Given the description of an element on the screen output the (x, y) to click on. 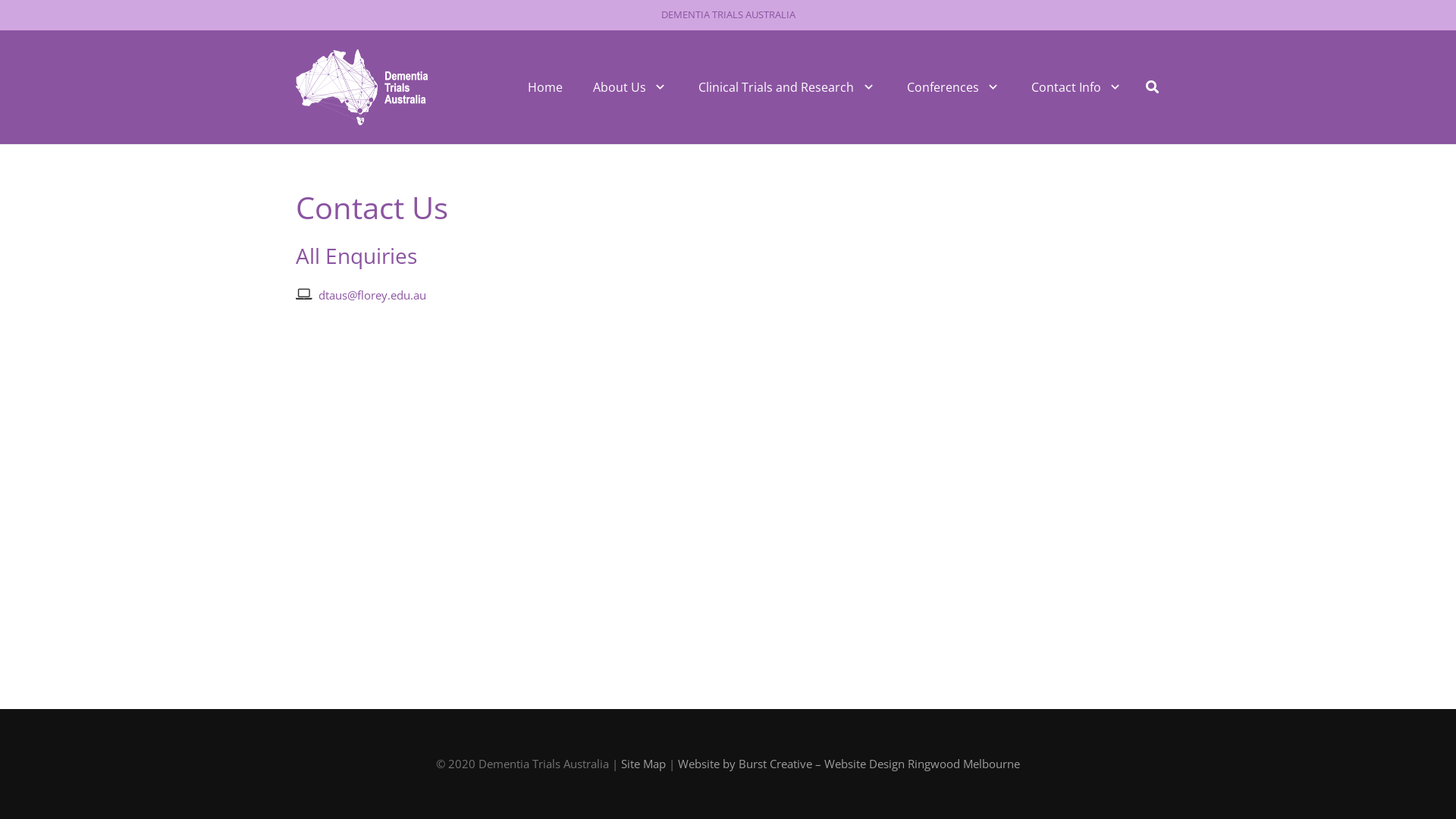
Site Map Element type: text (643, 763)
About Us Element type: text (630, 87)
Conferences Element type: text (953, 87)
Contact Info Element type: text (1077, 87)
dtaus@florey.edu.au Element type: text (372, 294)
Clinical Trials and Research Element type: text (787, 87)
Home Element type: text (544, 87)
